Given the description of an element on the screen output the (x, y) to click on. 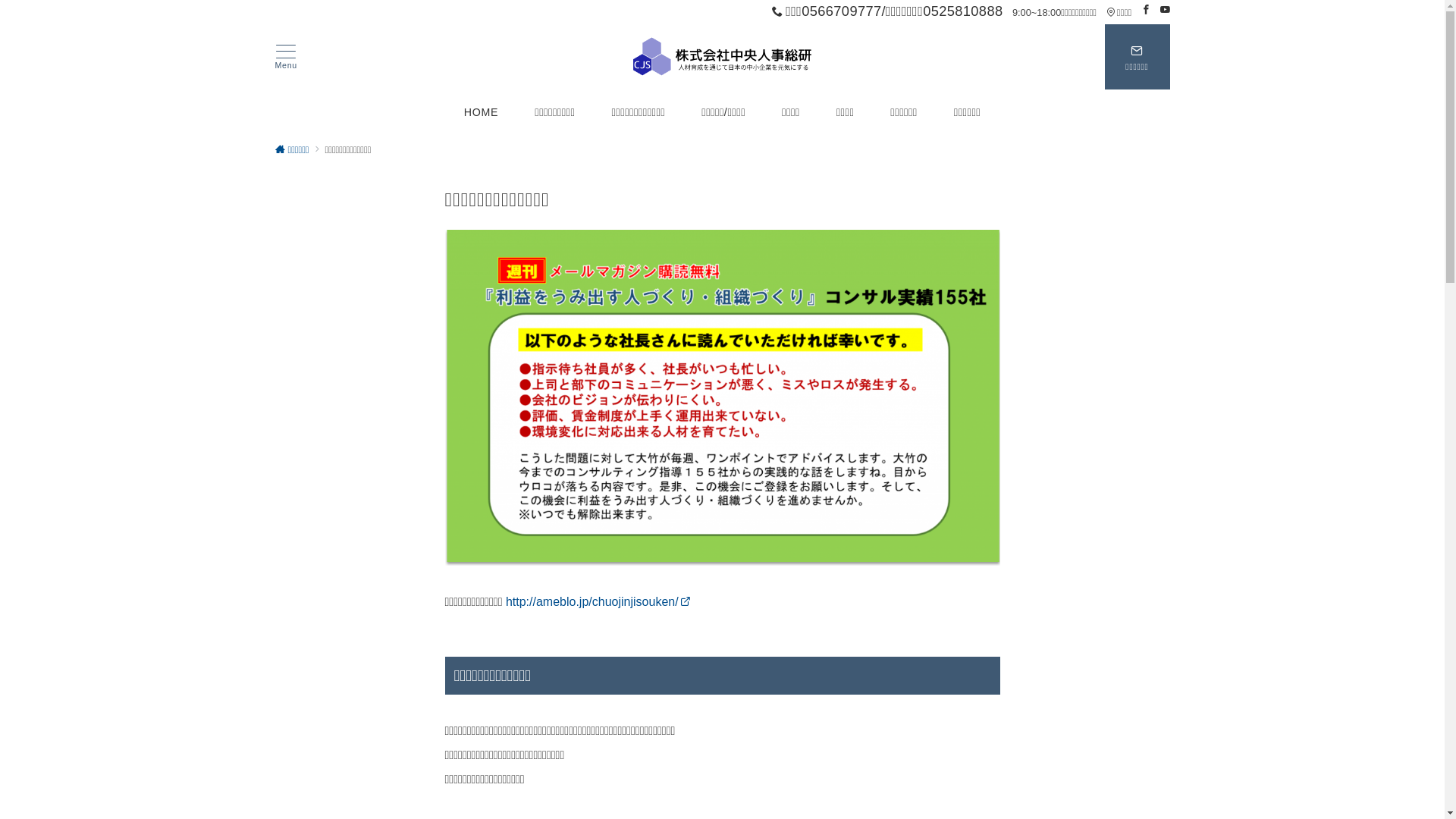
HOME Element type: text (481, 112)
Menu Element type: text (285, 56)
http://ameblo.jp/chuojinjisouken/ Element type: text (597, 601)
